Given the description of an element on the screen output the (x, y) to click on. 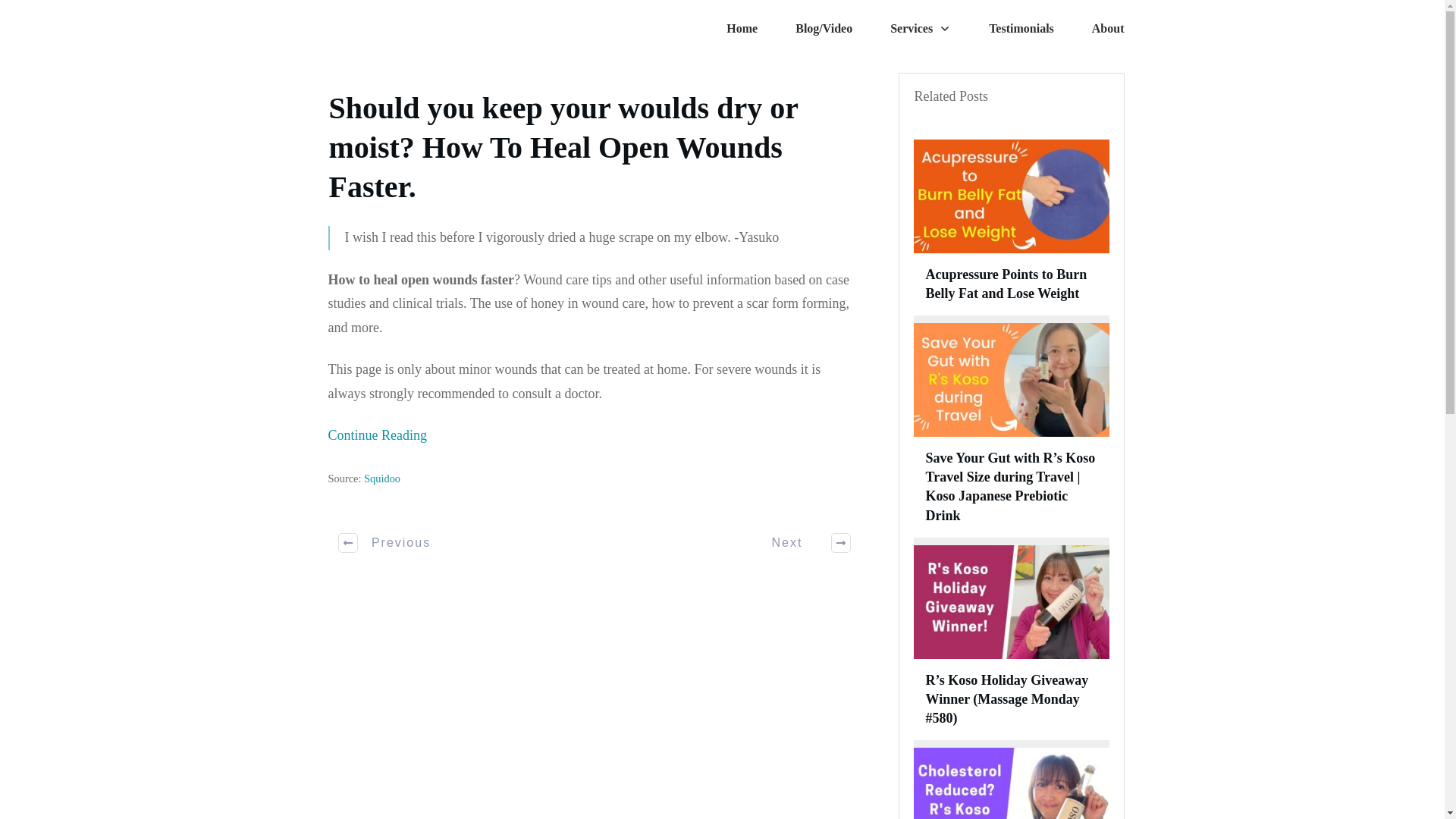
Home (741, 28)
Previous (385, 542)
Squidoo (382, 477)
Acupressure Points to Burn Belly Fat and Lose Weight (1005, 283)
Testimonials (1021, 28)
Acupressure Points to Burn Belly Fat and Lose Weight (1005, 283)
Next (802, 542)
About (1108, 28)
Continue Reading (376, 435)
Services (919, 28)
